Given the description of an element on the screen output the (x, y) to click on. 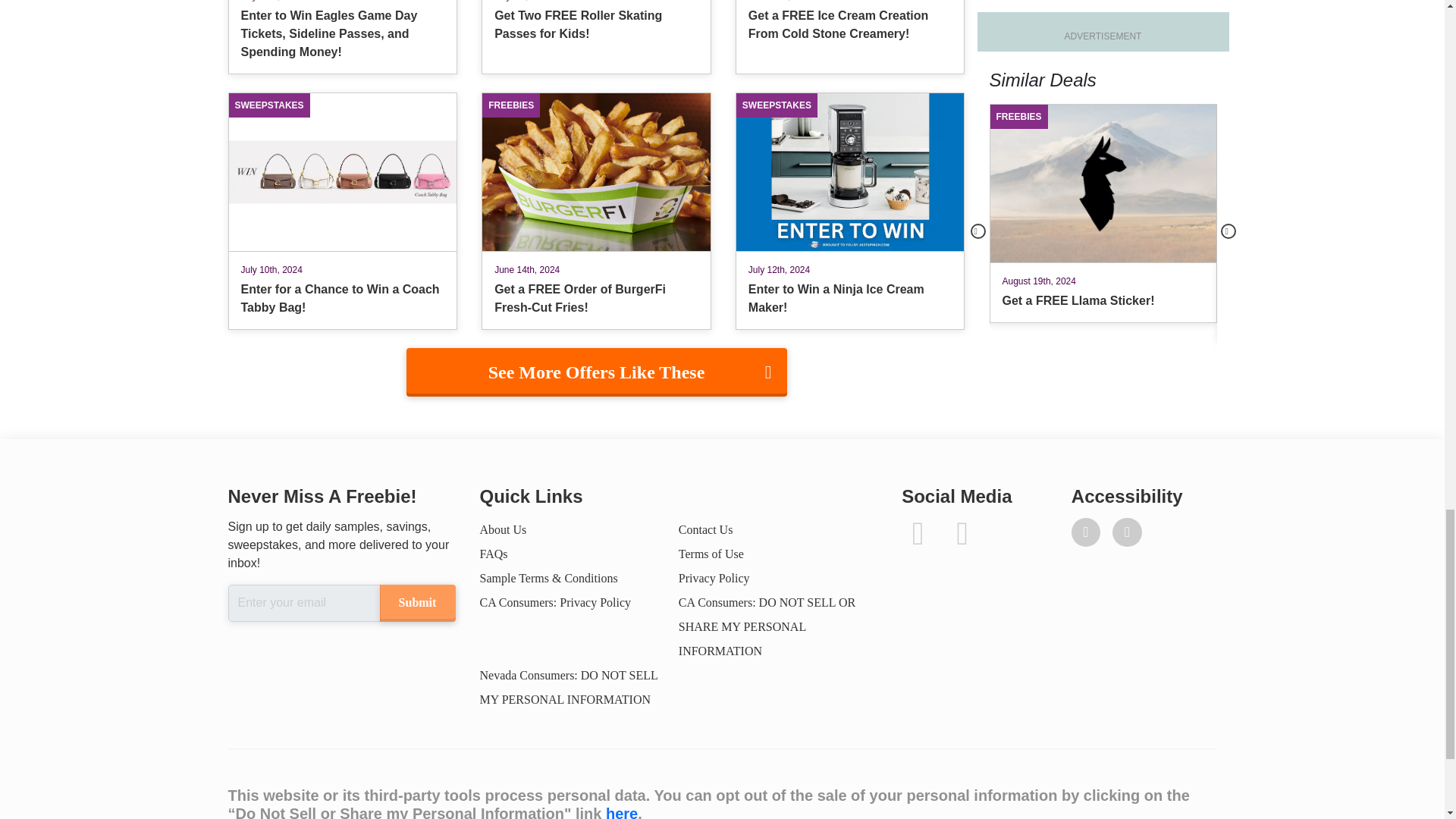
Contact Us (705, 529)
FAQs (492, 553)
Terms of Use (711, 553)
Submit (416, 602)
About Us (502, 529)
See More Offers Like These (596, 372)
